Given the description of an element on the screen output the (x, y) to click on. 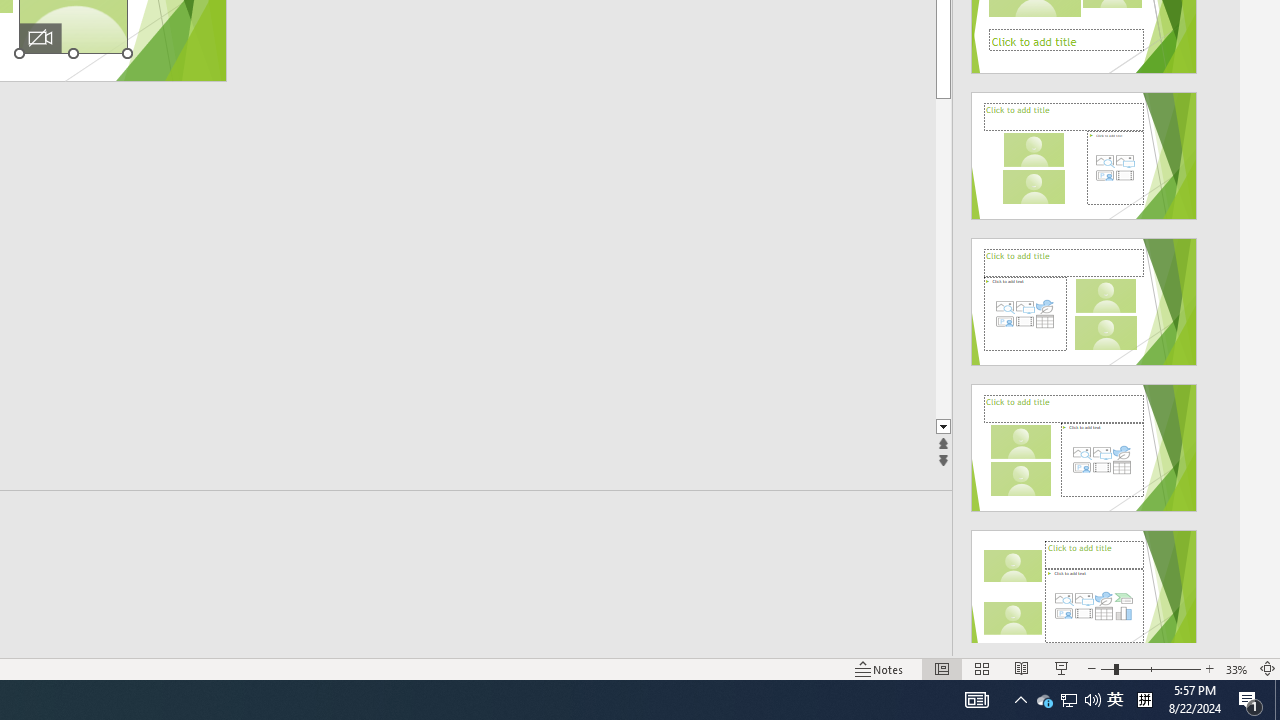
Zoom 33% (1236, 668)
